Given the description of an element on the screen output the (x, y) to click on. 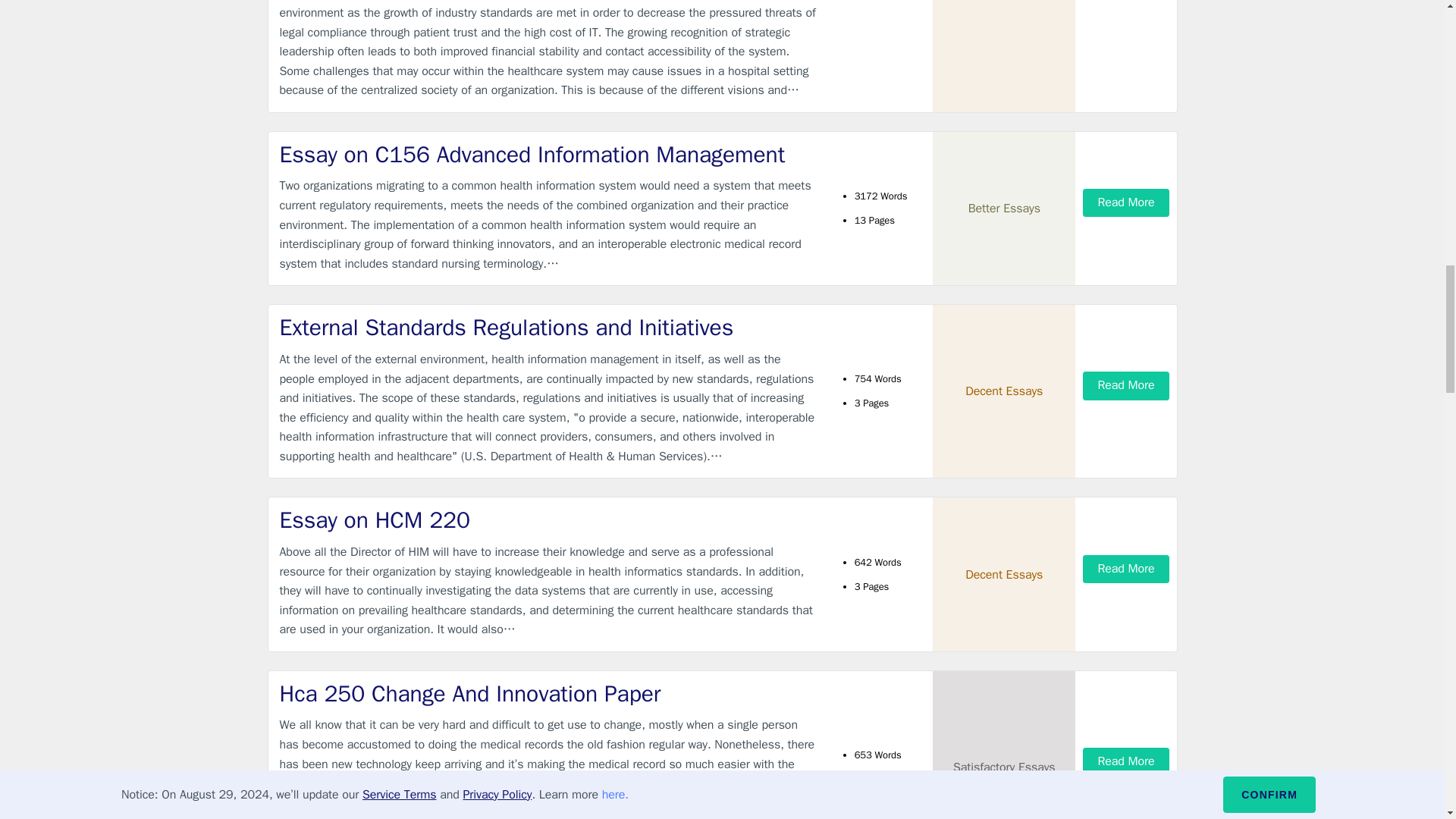
Read More (1126, 569)
Read More (1126, 385)
Read More (1126, 203)
Read More (1126, 761)
Hca 250 Change And Innovation Paper (548, 694)
Essay on HCM 220 (548, 520)
External Standards Regulations and Initiatives (548, 327)
Essay on C156 Advanced Information Management (548, 154)
